Given the description of an element on the screen output the (x, y) to click on. 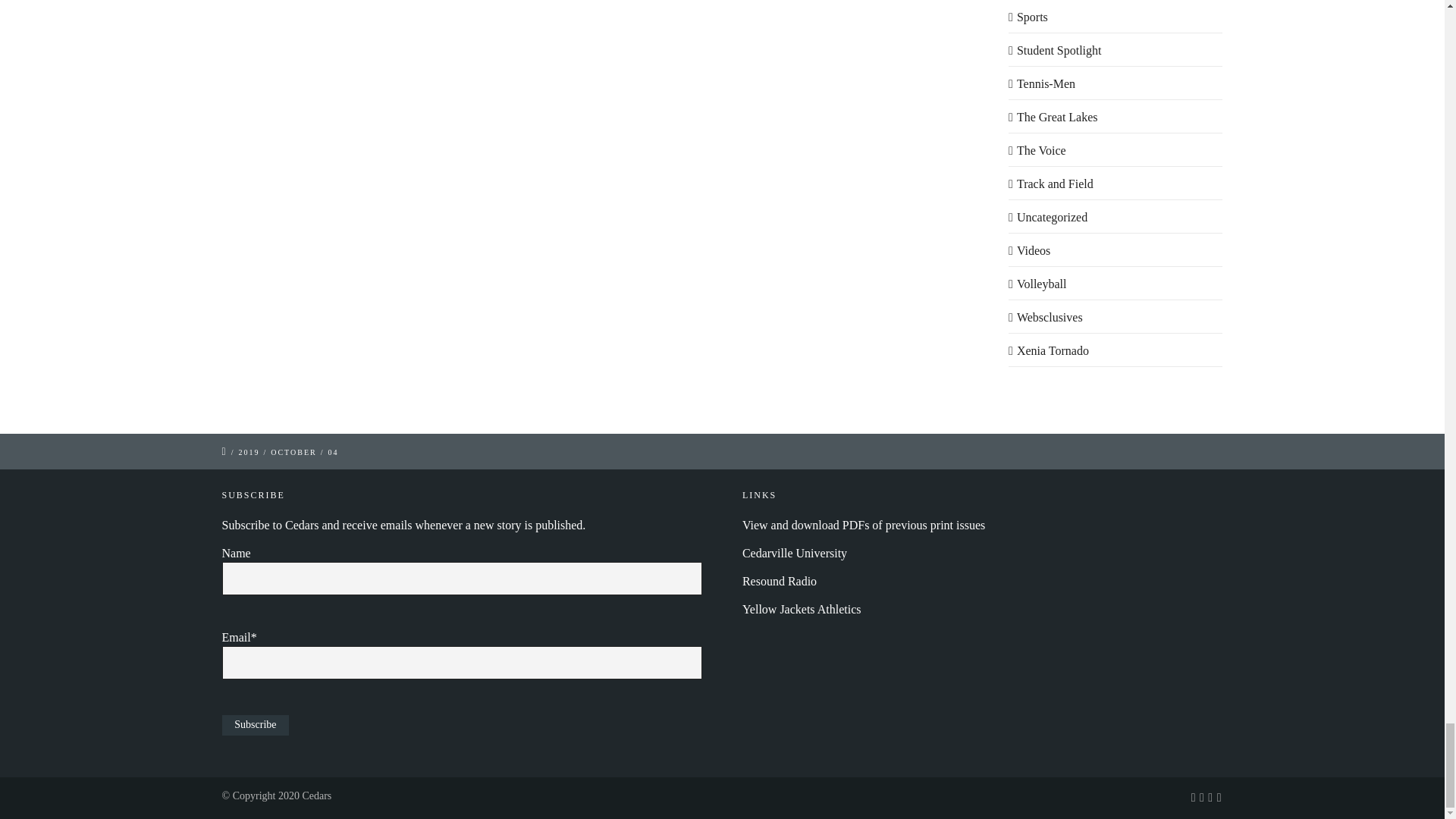
Cedarville University (794, 553)
Subscribe (254, 724)
Yellow Jackets Athletics (801, 608)
Resound Radio (779, 581)
Previous issues (863, 524)
